Given the description of an element on the screen output the (x, y) to click on. 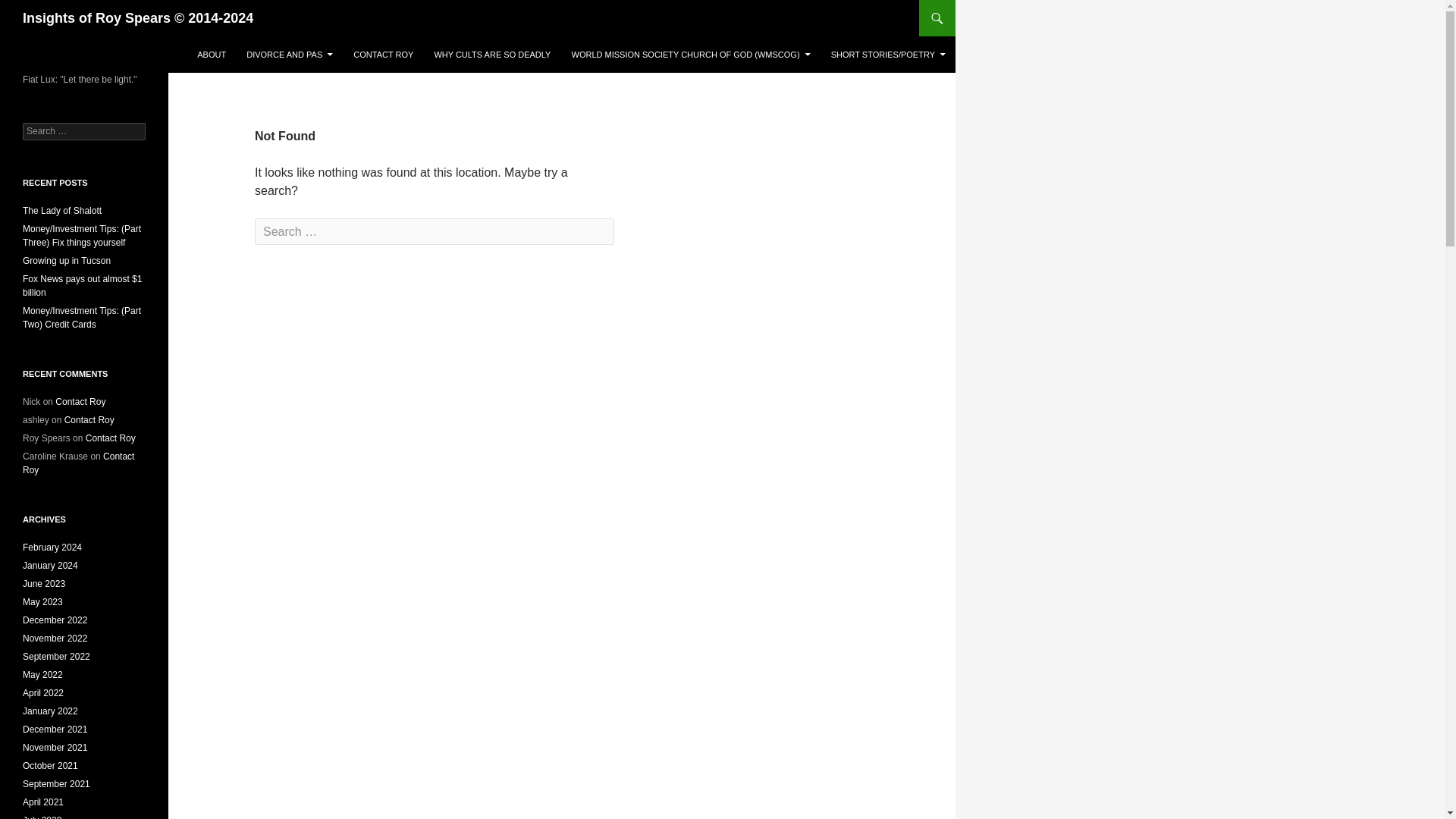
ABOUT (210, 54)
DIVORCE AND PAS (289, 54)
